Given the description of an element on the screen output the (x, y) to click on. 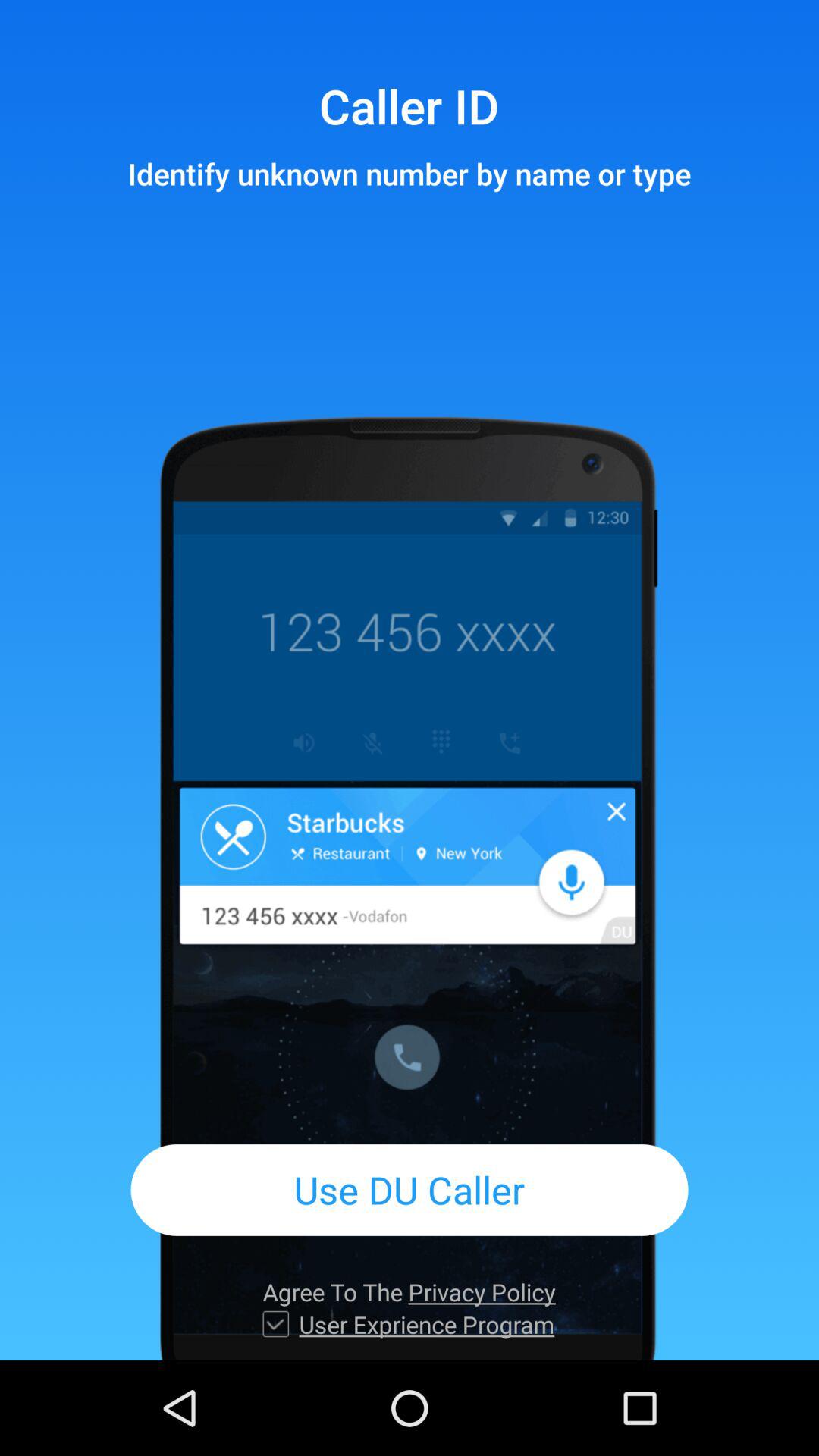
press the user exprience program icon (426, 1324)
